Given the description of an element on the screen output the (x, y) to click on. 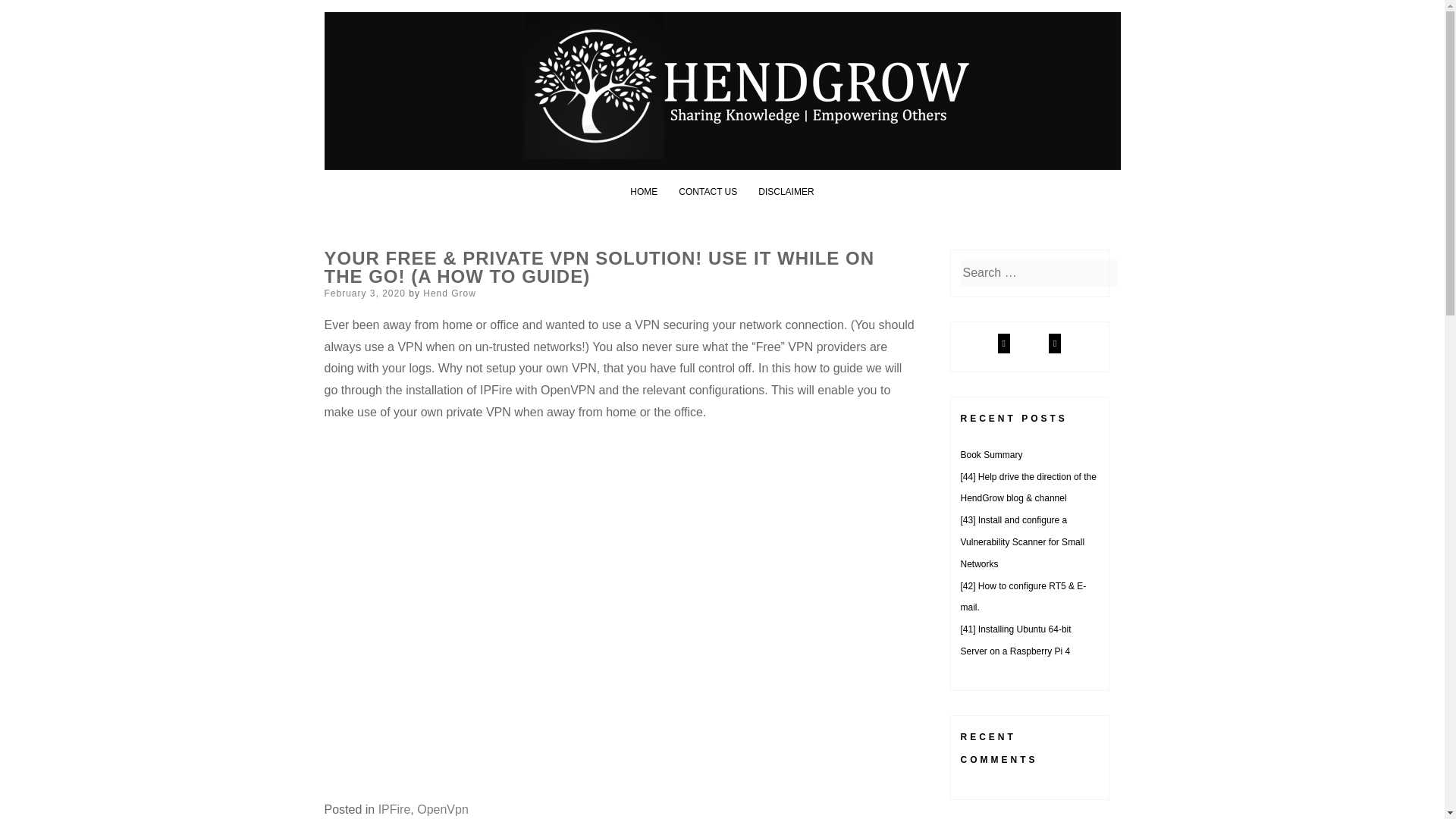
CONTACT US (707, 191)
Hend Grow (449, 293)
IPFire (394, 809)
February 3, 2020 (365, 293)
DISCLAIMER (785, 191)
OpenVpn (442, 809)
Book Summary (990, 454)
HendGrow (403, 47)
HOME (644, 191)
Search (29, 13)
